Given the description of an element on the screen output the (x, y) to click on. 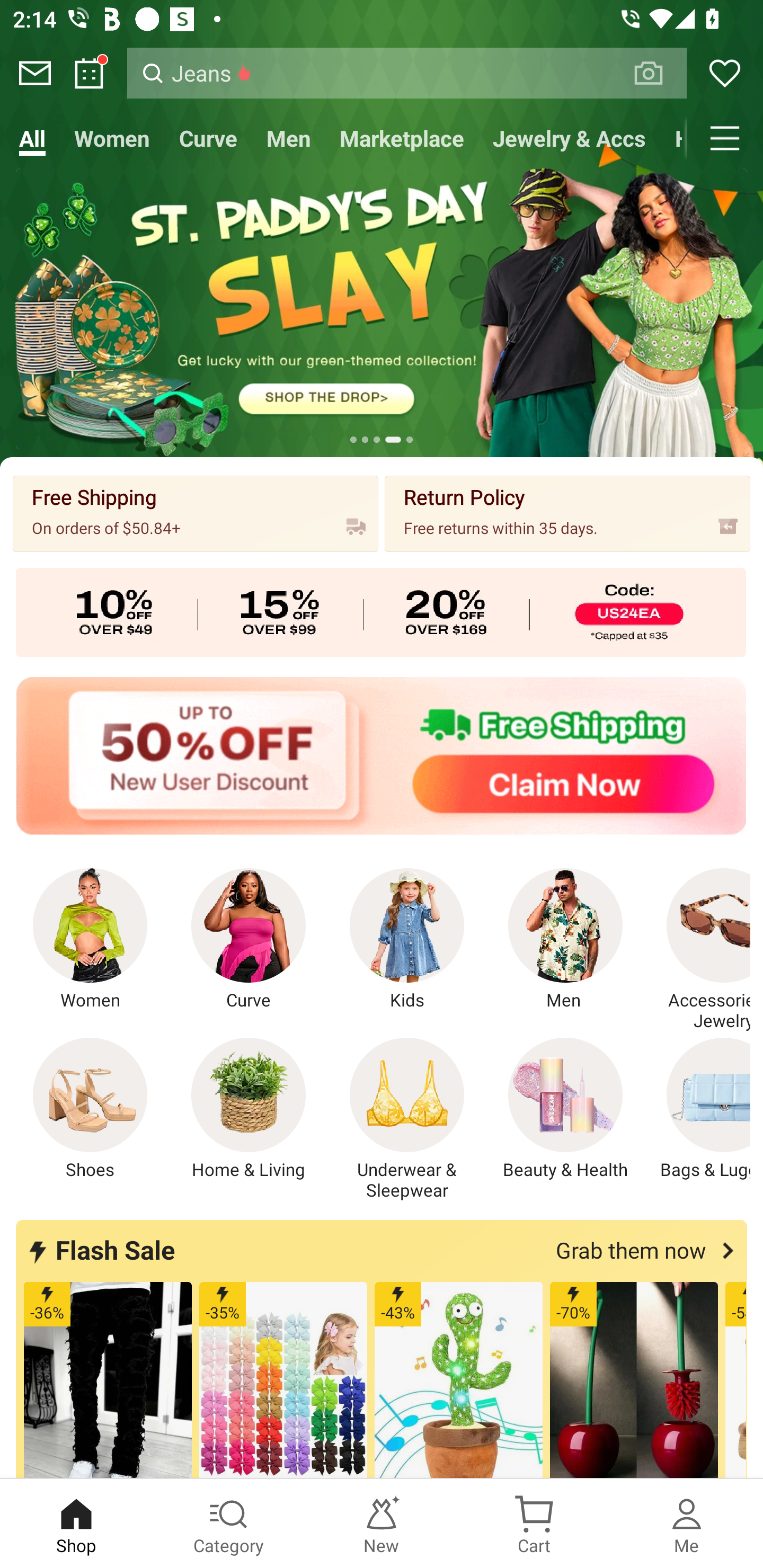
Wishlist (724, 72)
VISUAL SEARCH (657, 72)
All (31, 137)
Women (111, 137)
Curve (208, 137)
Men (288, 137)
Marketplace (401, 137)
Jewelry & Accs (569, 137)
Free Shipping On orders of $50.84+ (195, 513)
Return Policy Free returns within 35 days. (567, 513)
Women (89, 939)
Curve (248, 939)
Kids (406, 939)
Men  (565, 939)
Accessories & Jewelry (698, 949)
Shoes (89, 1109)
Home & Living (248, 1109)
Underwear & Sleepwear (406, 1119)
Beauty & Health (565, 1109)
Bags & Luggage (698, 1109)
Category (228, 1523)
New (381, 1523)
Cart (533, 1523)
Me (686, 1523)
